Given the description of an element on the screen output the (x, y) to click on. 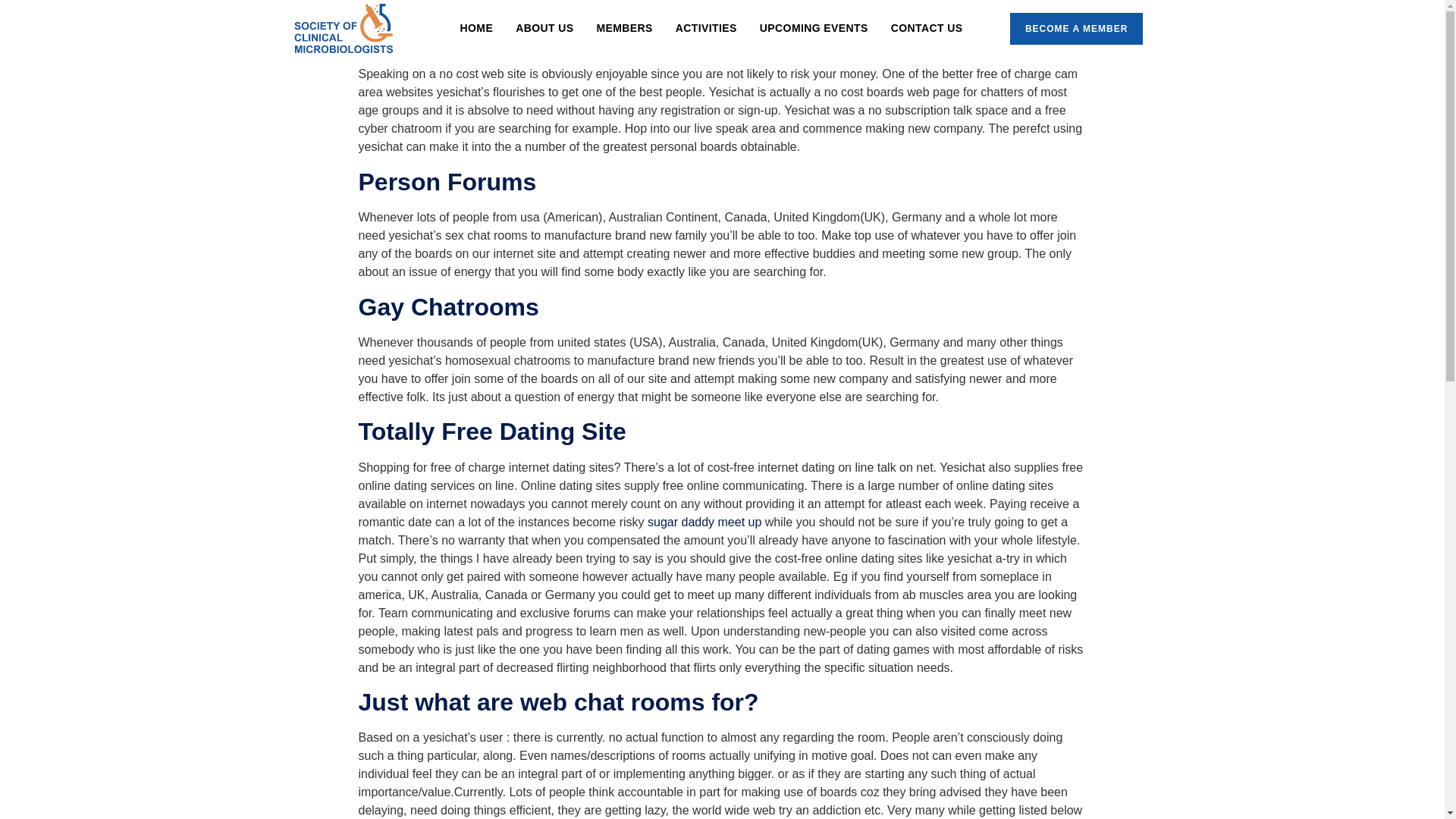
sugar daddy meet up (704, 521)
HOME (476, 28)
UPCOMING EVENTS (813, 28)
ACTIVITIES (705, 28)
BECOME A MEMBER (1076, 29)
CONTACT US (926, 28)
MEMBERS (624, 28)
ABOUT US (544, 28)
